Given the description of an element on the screen output the (x, y) to click on. 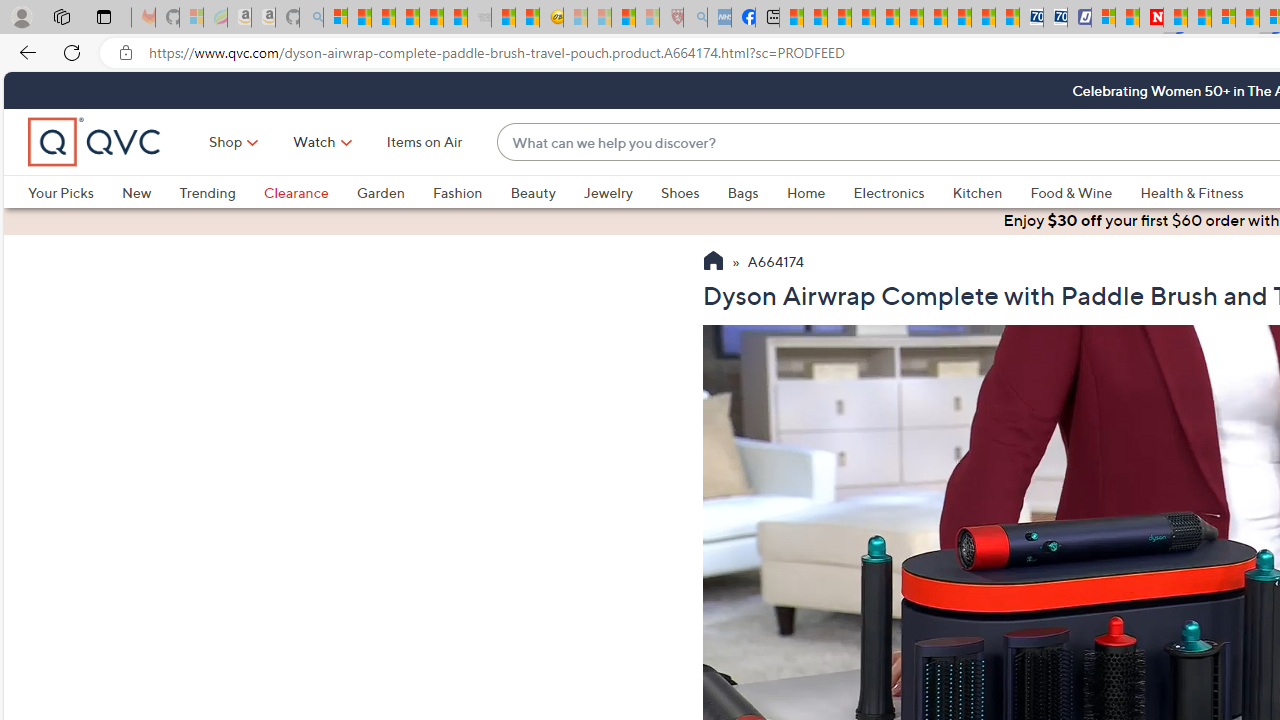
Shoes (680, 192)
Kitchen (991, 192)
Combat Siege - Sleeping (479, 17)
Bags (743, 192)
Return to QVC Homepage (712, 263)
Clearance (309, 192)
